Given the description of an element on the screen output the (x, y) to click on. 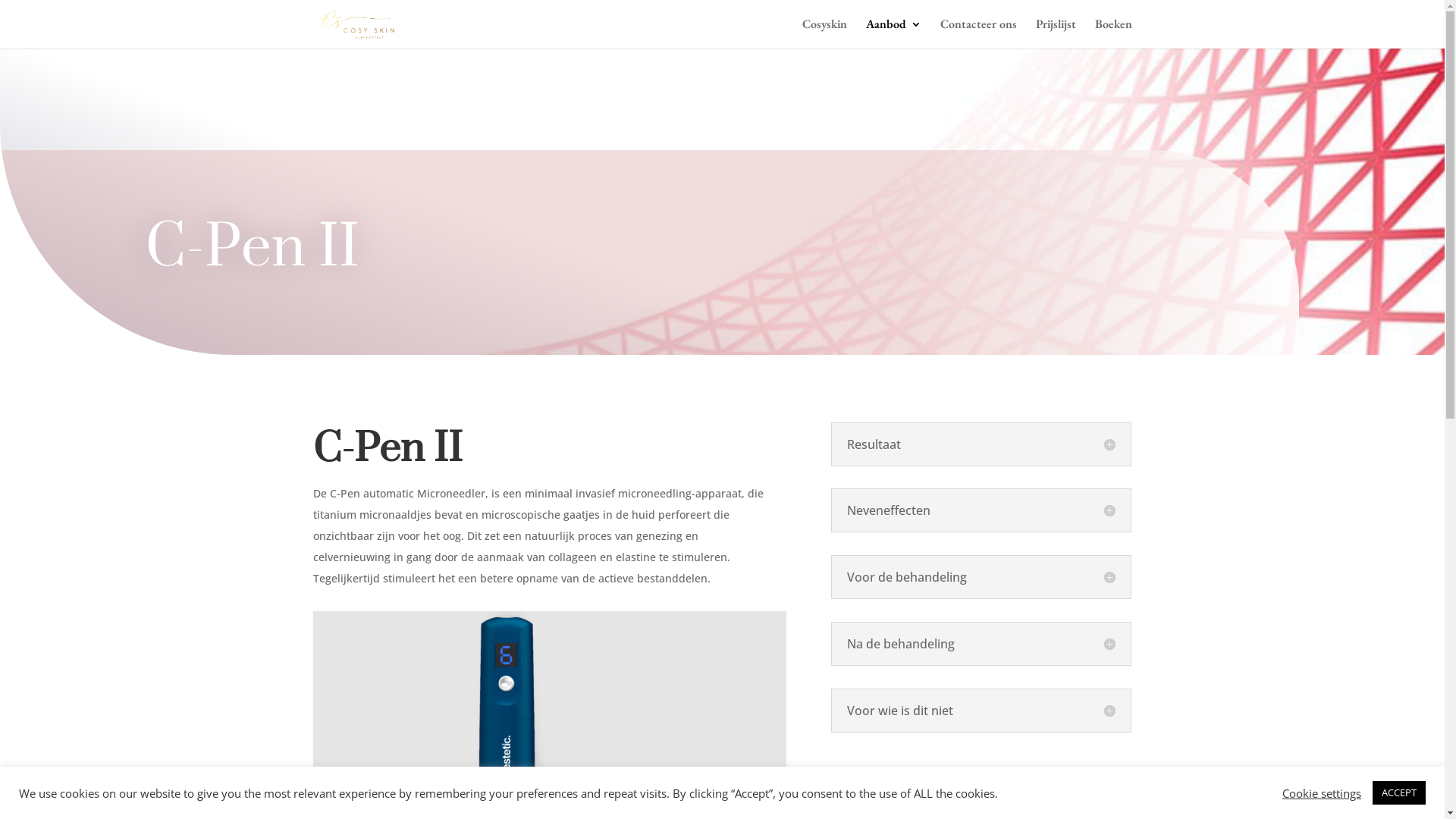
Aanbod Element type: text (893, 33)
Cookie settings Element type: text (1321, 792)
Contacteer ons Element type: text (978, 33)
ACCEPT Element type: text (1398, 792)
Boeken Element type: text (1113, 33)
Cosyskin Element type: text (824, 33)
Prijslijst Element type: text (1055, 33)
